Given the description of an element on the screen output the (x, y) to click on. 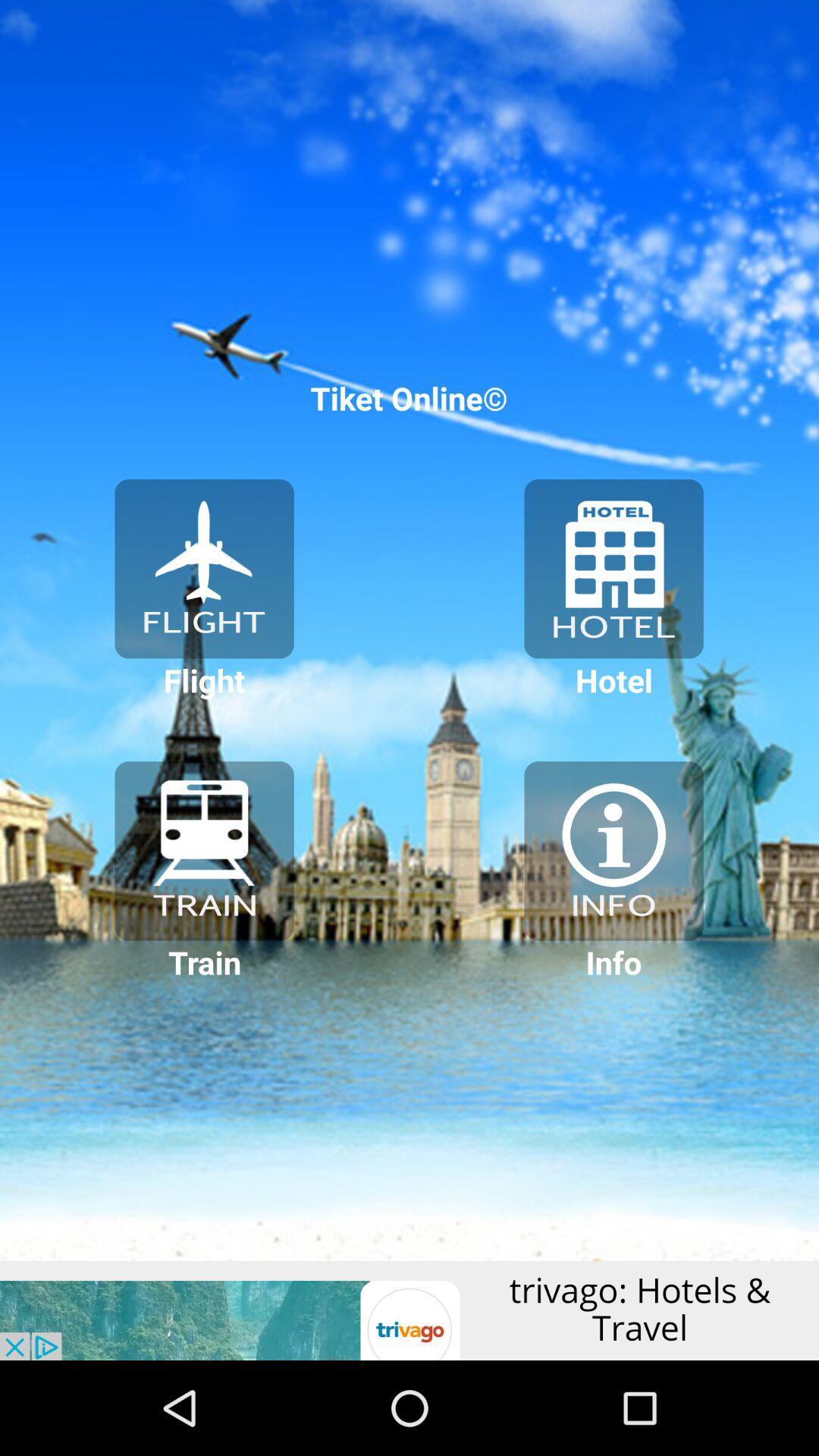
flight booking option (204, 568)
